Given the description of an element on the screen output the (x, y) to click on. 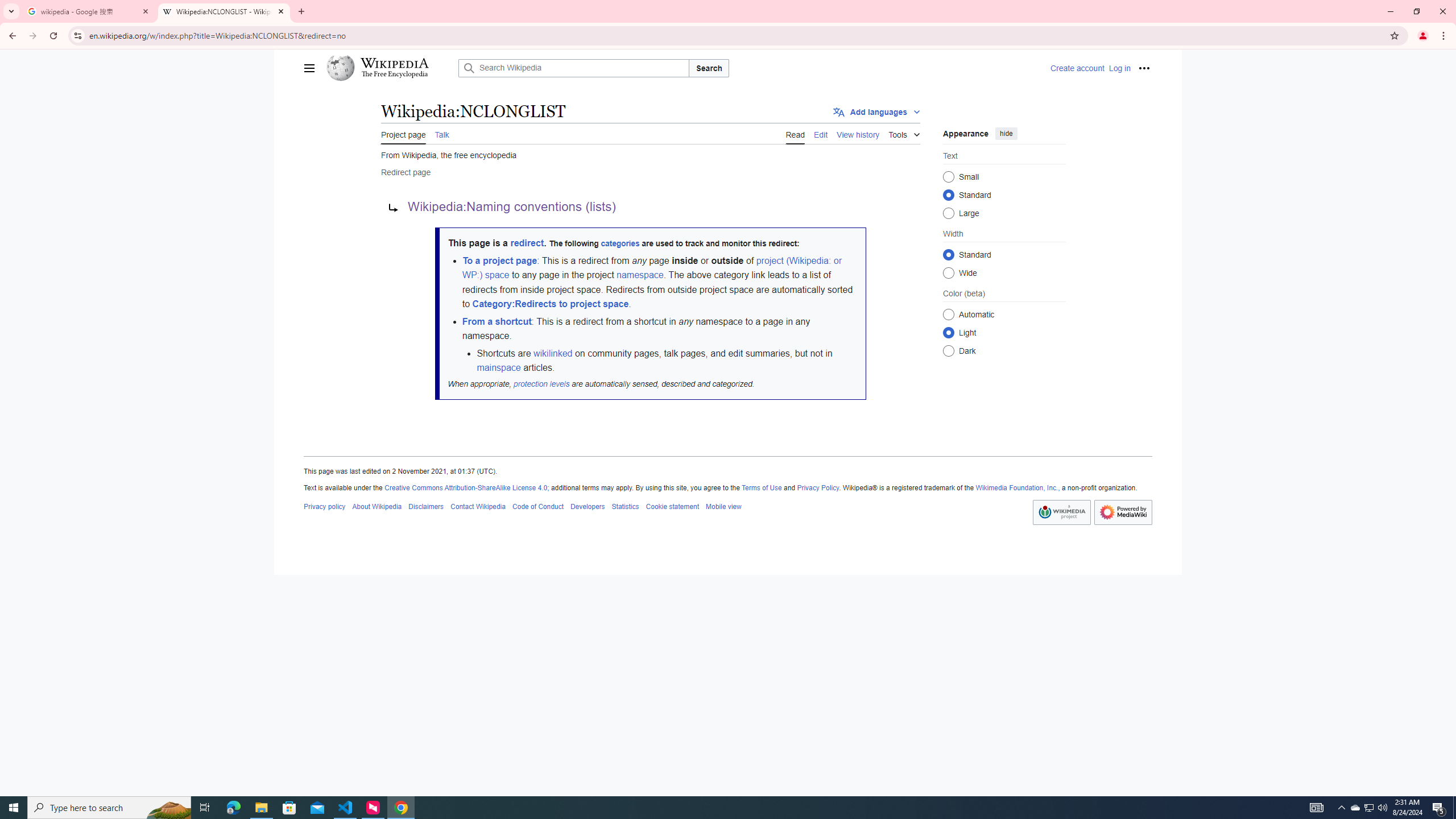
Talk (441, 133)
Reload (52, 35)
Wikipedia The Free Encyclopedia (389, 68)
Code of Conduct (537, 506)
Standard (948, 254)
Wikimedia Foundation (1061, 511)
View history (858, 133)
Powered by MediaWiki (1122, 511)
The Free Encyclopedia (394, 74)
AutomationID: footer-places-statslink (625, 506)
AutomationID: footer-places-about (376, 506)
mainspace (498, 367)
Automatic (948, 313)
To a project page (499, 260)
